Given the description of an element on the screen output the (x, y) to click on. 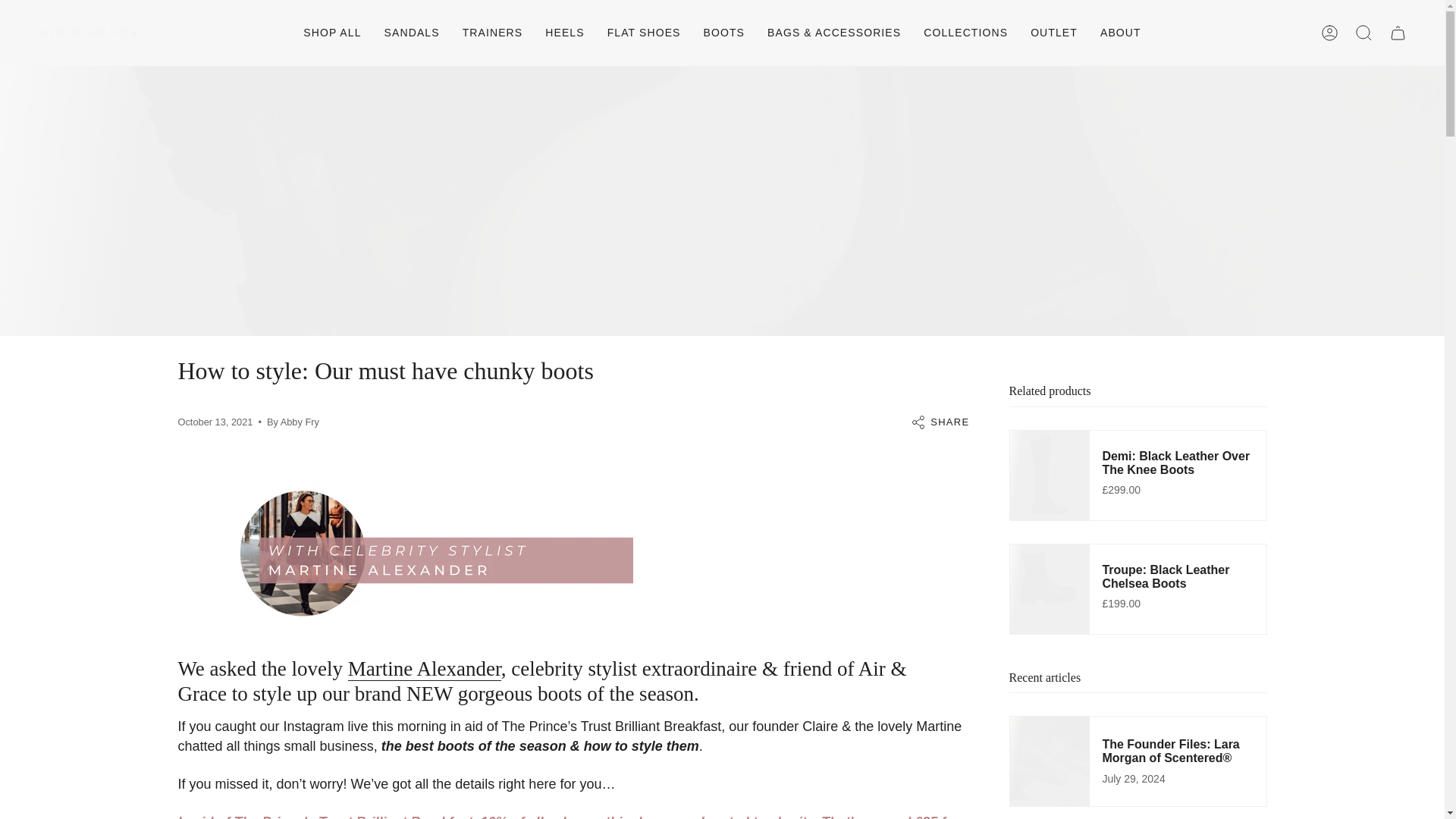
Cart (1397, 32)
FLAT SHOES (644, 32)
SHOP ALL (332, 32)
BOOTS (725, 32)
My Account (1329, 32)
TRAINERS (492, 32)
Search (1363, 32)
HEELS (564, 32)
SANDALS (411, 32)
